Given the description of an element on the screen output the (x, y) to click on. 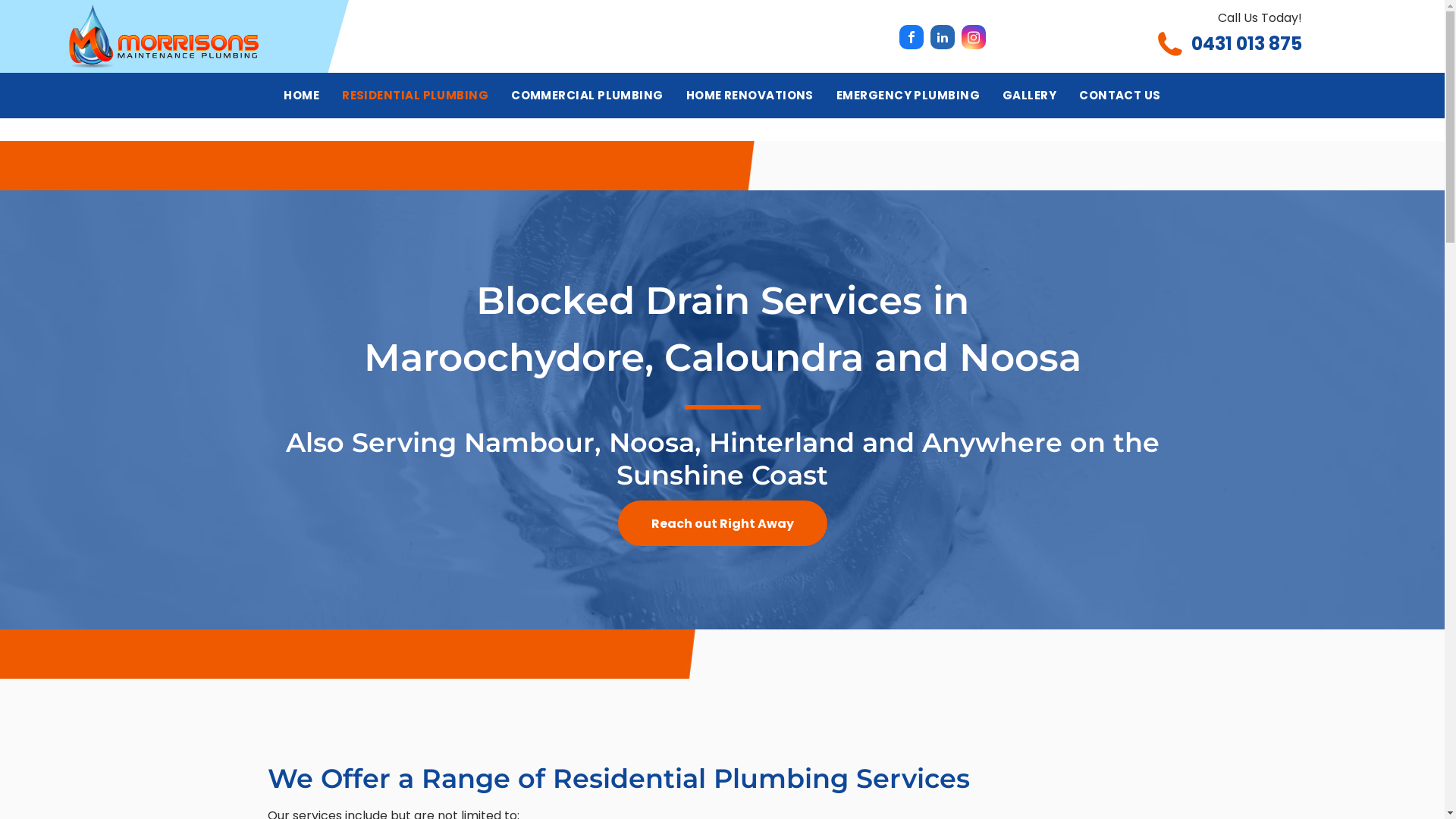
EMERGENCY PLUMBING Element type: text (908, 95)
GALLERY Element type: text (1029, 95)
Reach out Right Away Element type: text (721, 523)
HOME Element type: text (301, 95)
0431 013 875 Element type: text (1246, 43)
RESIDENTIAL PLUMBING Element type: text (414, 95)
CONTACT US Element type: text (1119, 95)
COMMERCIAL PLUMBING Element type: text (586, 95)
HOME RENOVATIONS Element type: text (749, 95)
Morrisons Maintenance Plumbing Element type: hover (163, 36)
